Given the description of an element on the screen output the (x, y) to click on. 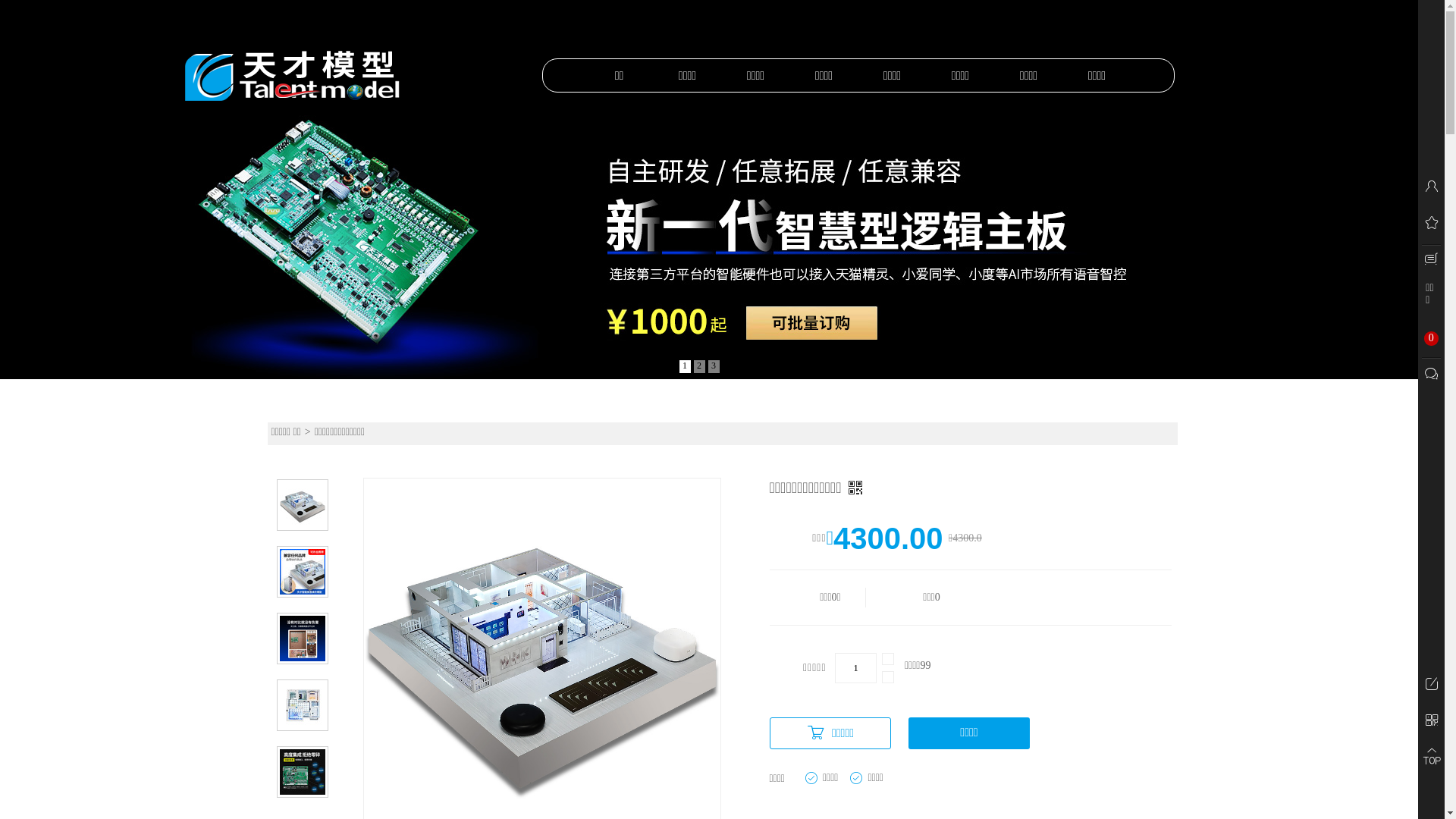
2 Element type: text (698, 366)
3 Element type: text (713, 366)
1 Element type: text (684, 366)
